Given the description of an element on the screen output the (x, y) to click on. 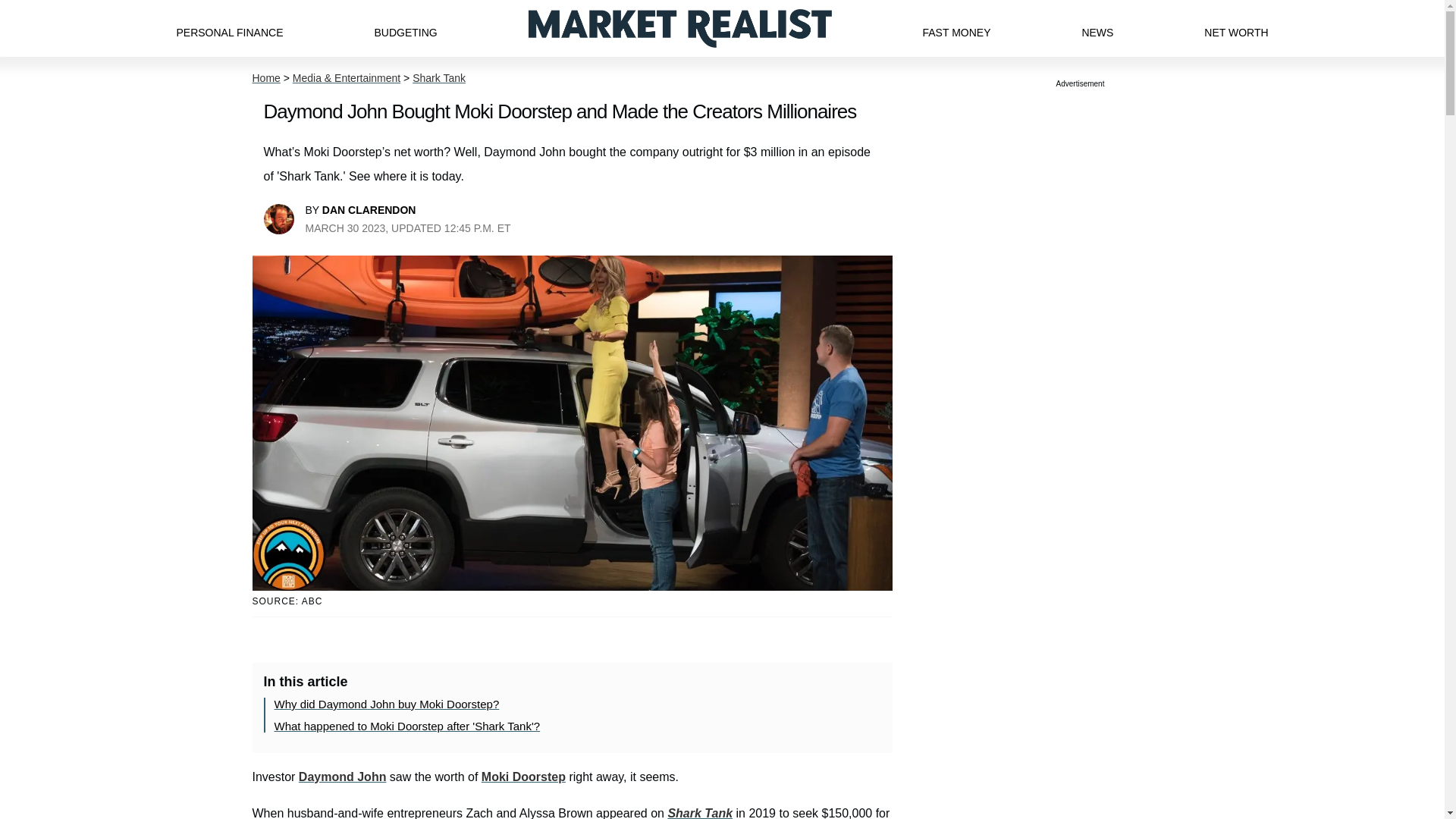
Home (265, 78)
Shark Tank (438, 78)
DAN CLARENDON (368, 209)
What happened to Moki Doorstep after 'Shark Tank'? (407, 725)
NET WORTH (1236, 27)
FAST MONEY (955, 27)
BUDGETING (405, 27)
Shark Tank (699, 812)
PERSONAL FINANCE (229, 27)
Moki Doorstep (523, 776)
